Given the description of an element on the screen output the (x, y) to click on. 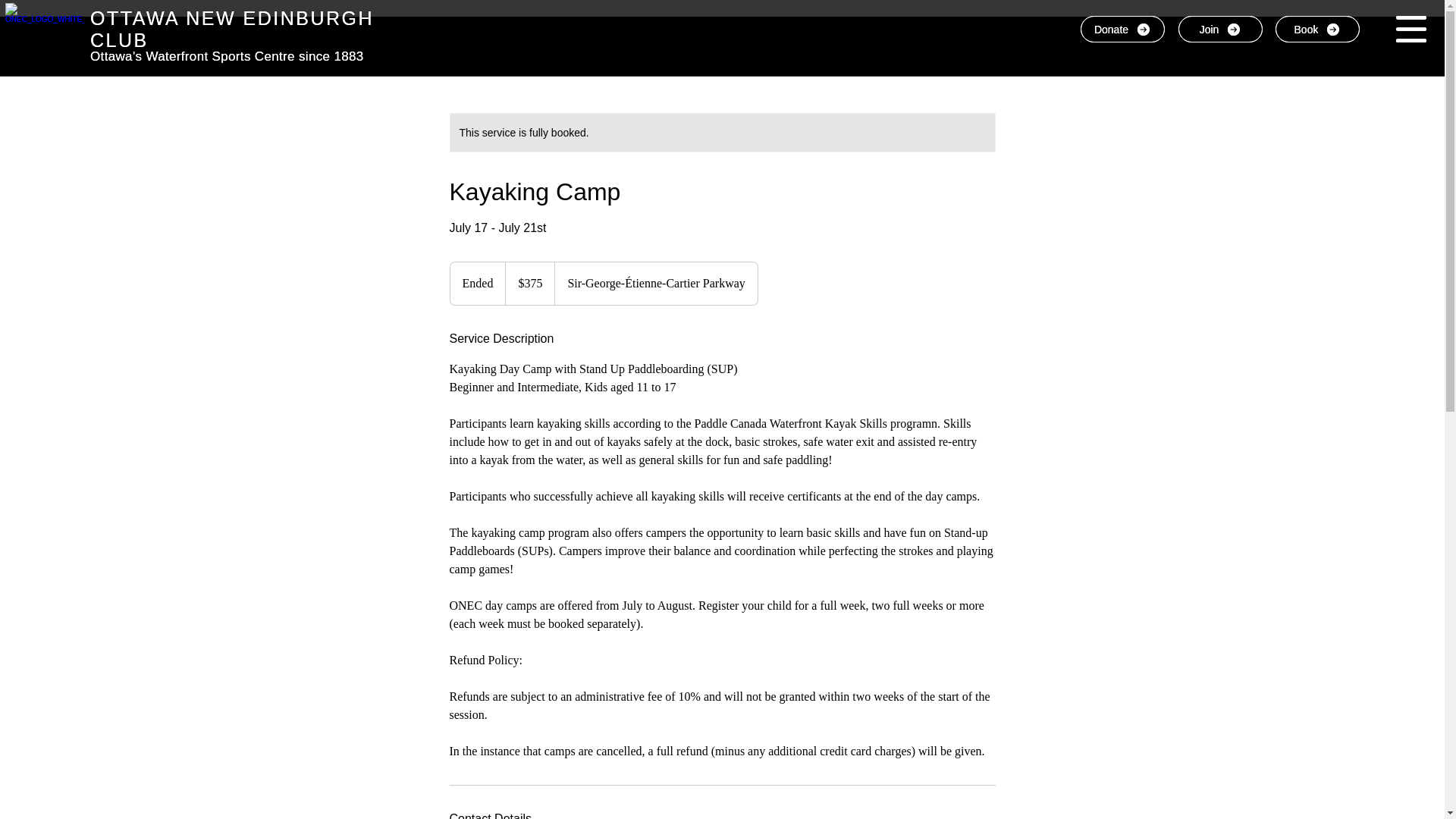
OTTAWA NEW EDINBURGH CLUB (232, 28)
Ottawa's Waterfront Sports Centre since 1883 (227, 56)
Join (1219, 28)
Donate (1122, 28)
Book (1317, 28)
